Given the description of an element on the screen output the (x, y) to click on. 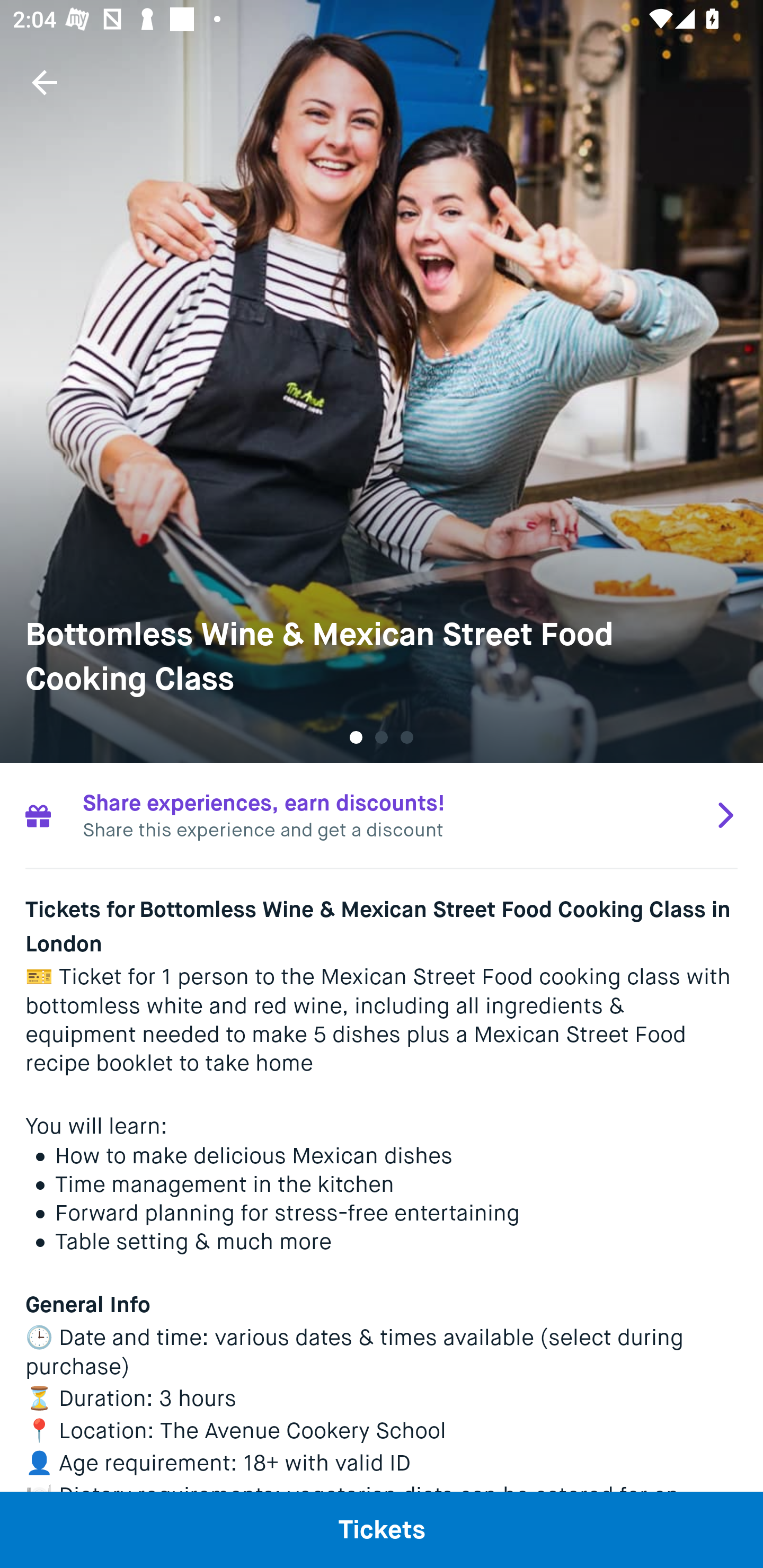
Navigate up (44, 82)
Tickets (381, 1529)
